Given the description of an element on the screen output the (x, y) to click on. 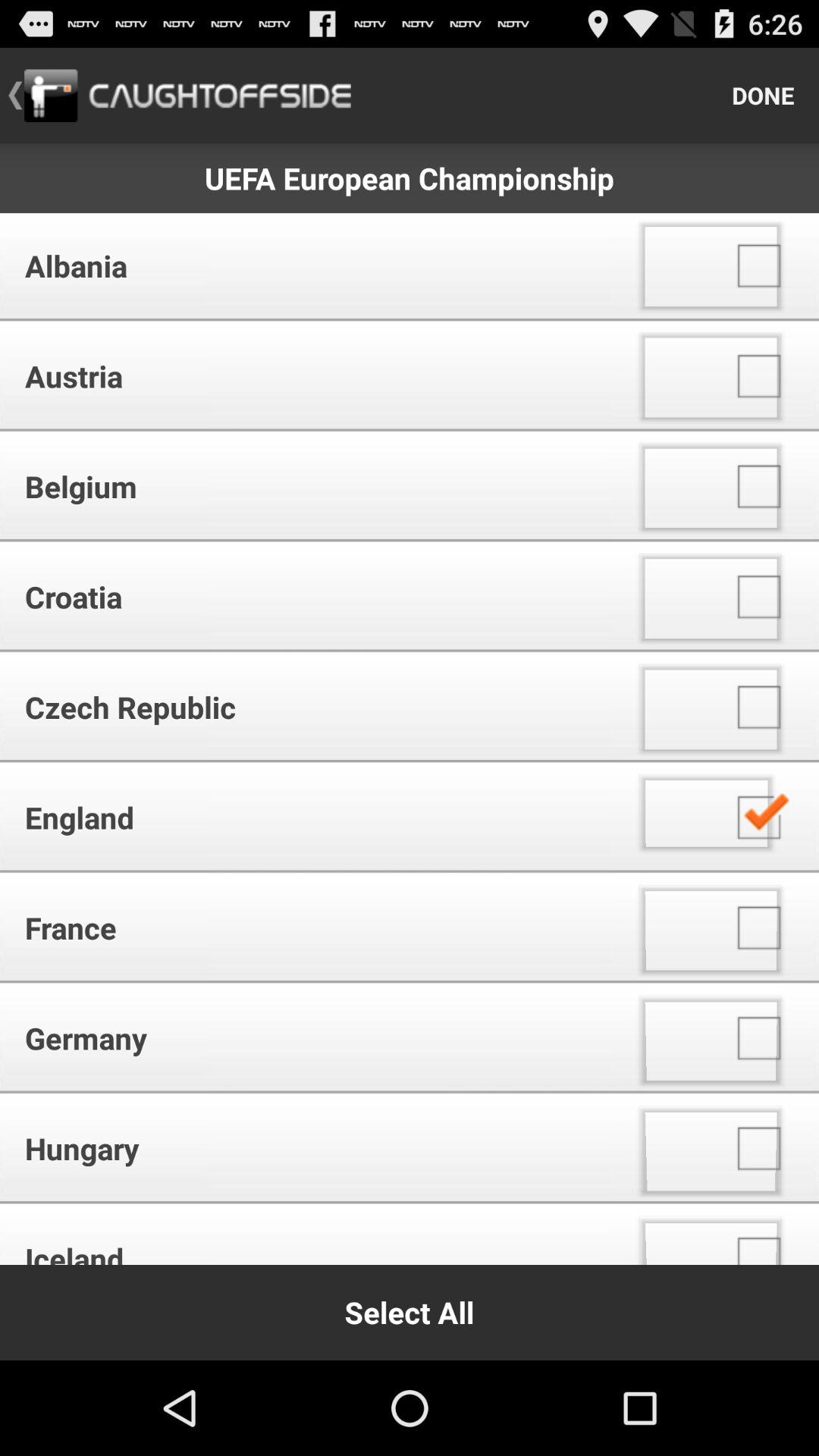
turn off the app below the france app (311, 1038)
